Given the description of an element on the screen output the (x, y) to click on. 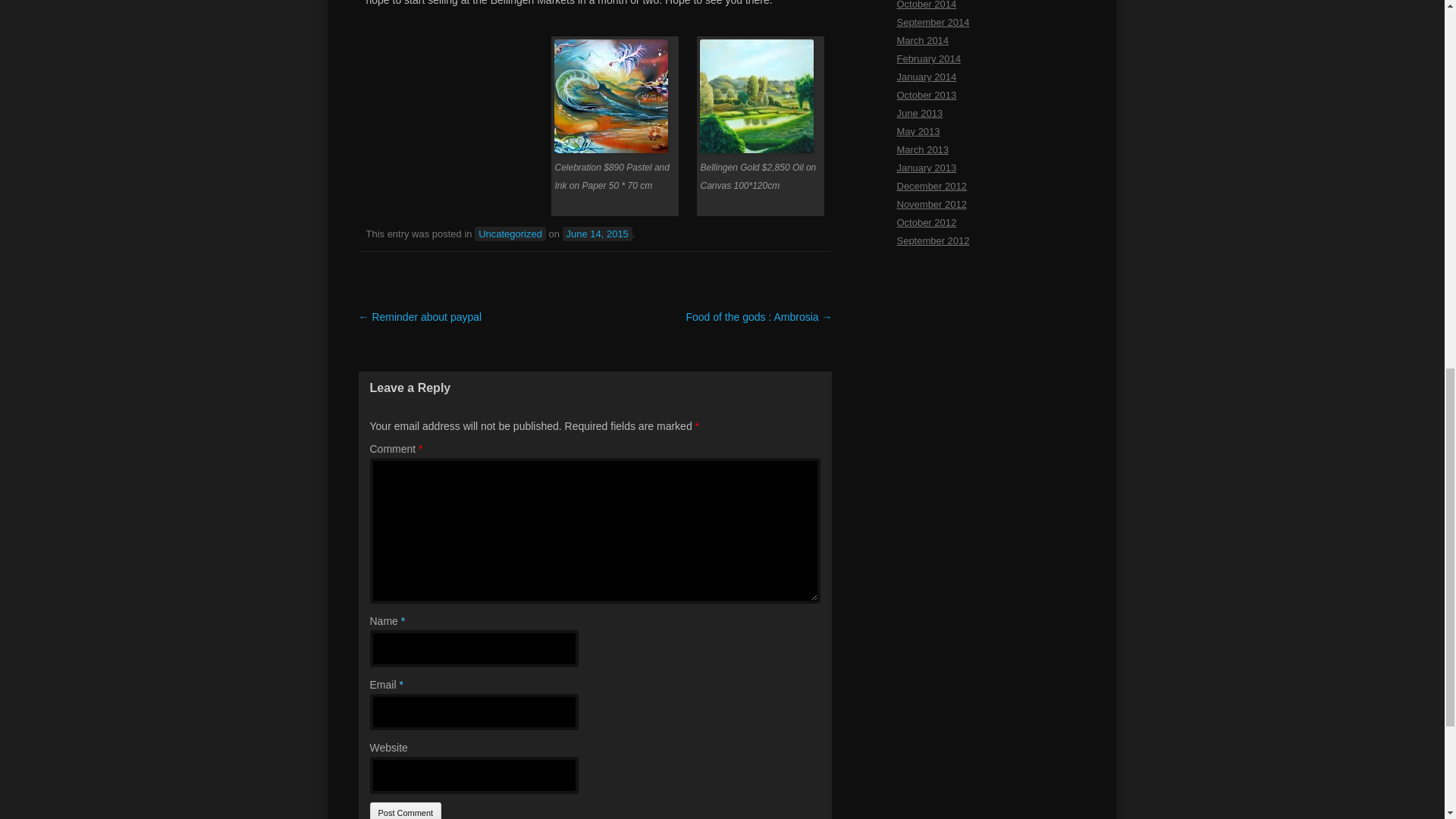
Post Comment (405, 810)
June 14, 2015 (596, 233)
11:47 am (596, 233)
Post Comment (405, 810)
Uncategorized (510, 233)
